Given the description of an element on the screen output the (x, y) to click on. 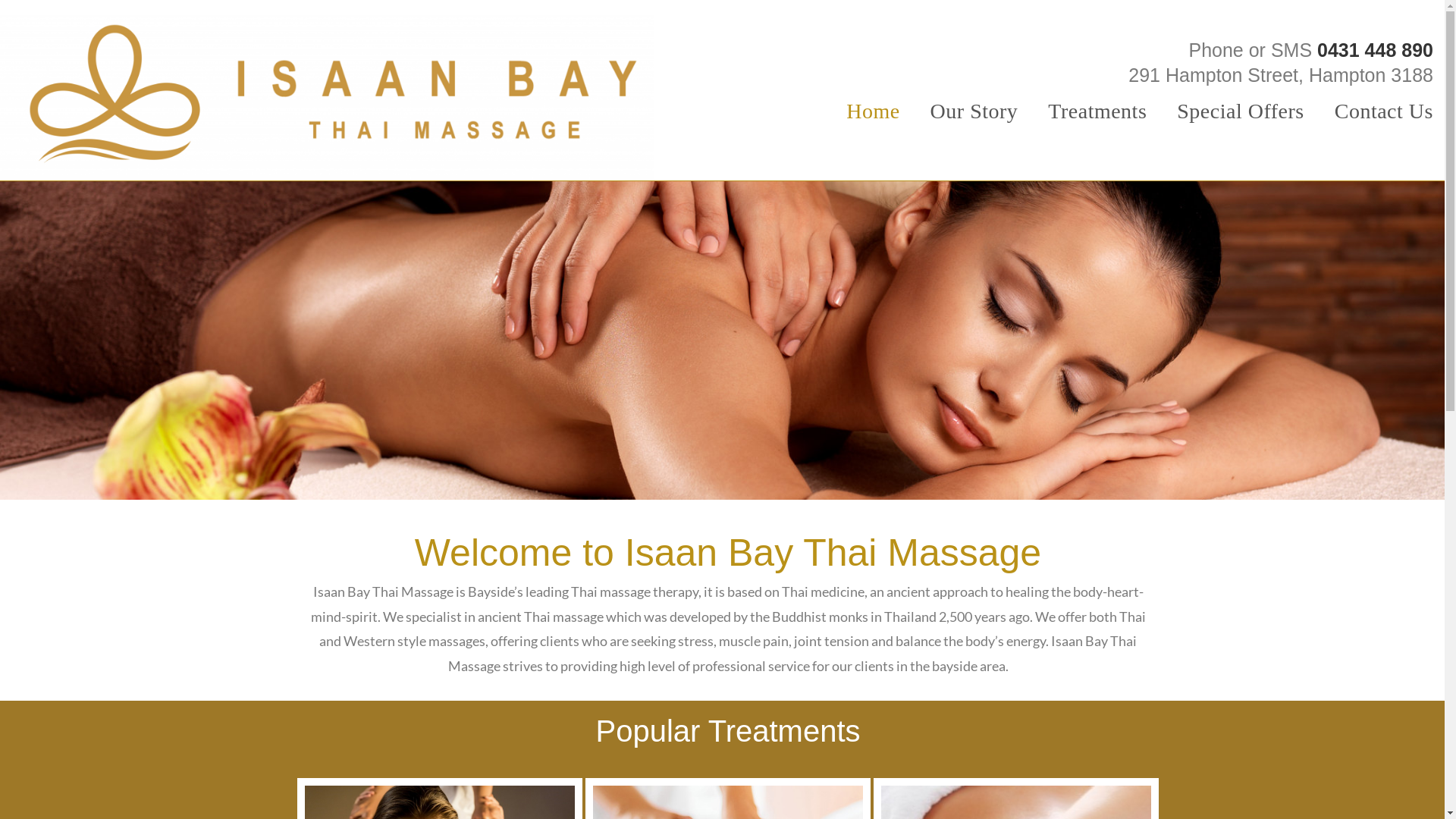
Home Element type: text (872, 111)
Treatments Element type: text (1096, 111)
Contact Us Element type: text (1383, 111)
Special Offers Element type: text (1239, 111)
0431 448 890 Element type: text (1375, 49)
Our Story Element type: text (974, 111)
